Given the description of an element on the screen output the (x, y) to click on. 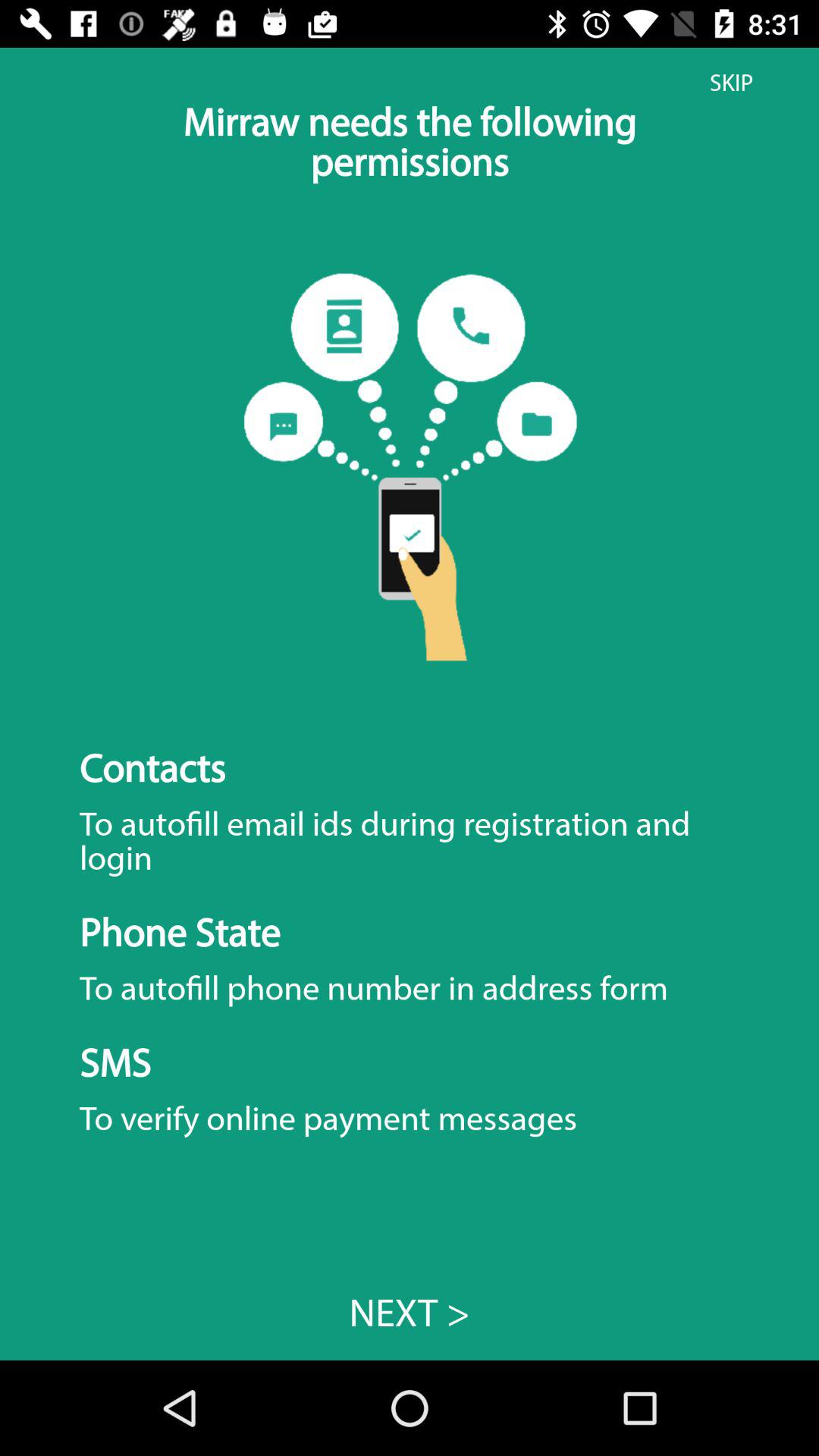
click the item above to autofill email (731, 83)
